Given the description of an element on the screen output the (x, y) to click on. 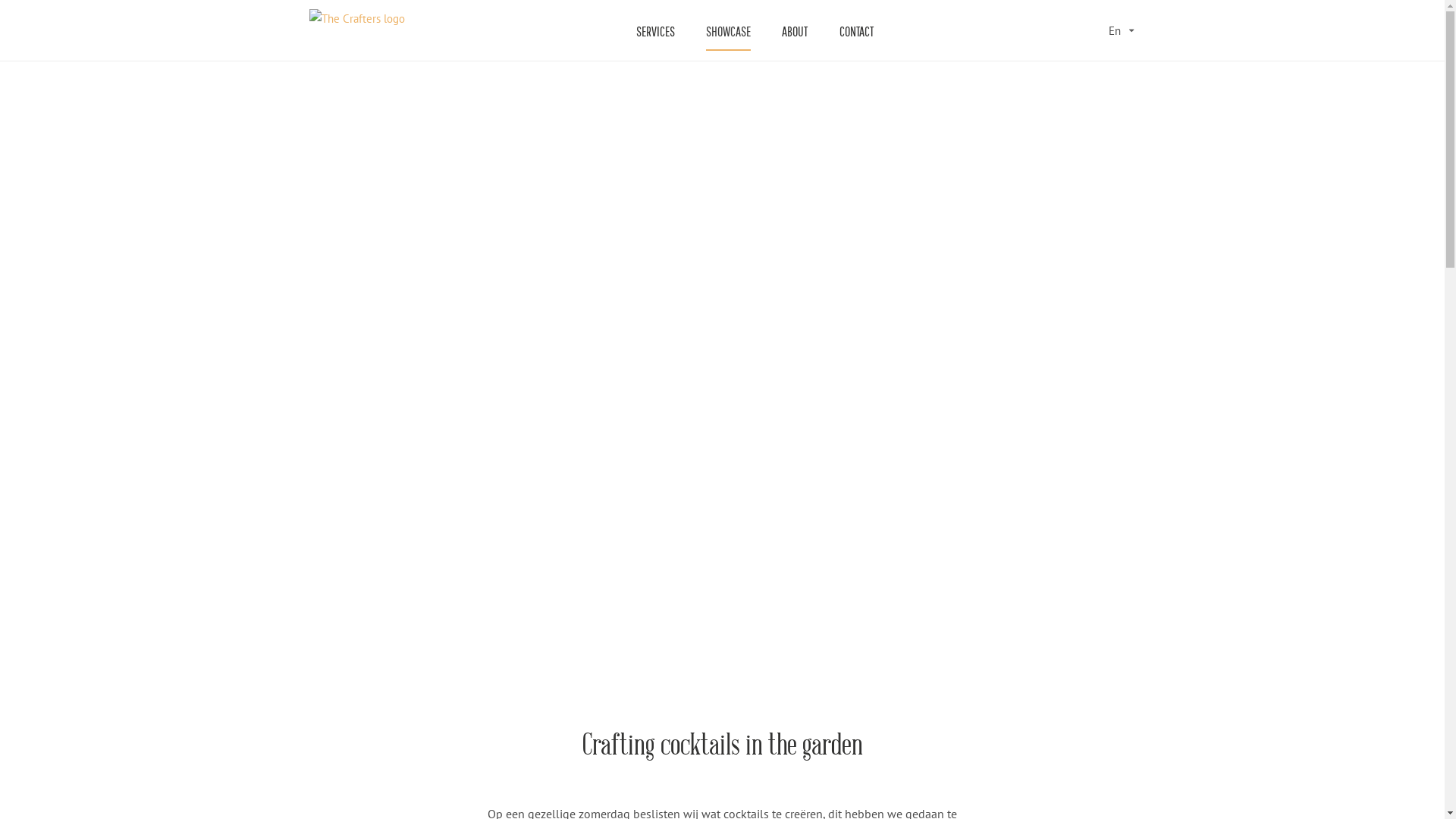
ABOUT Element type: text (794, 31)
SERVICES Element type: text (655, 31)
SHOWCASE Element type: text (727, 31)
CONTACT Element type: text (855, 31)
